Given the description of an element on the screen output the (x, y) to click on. 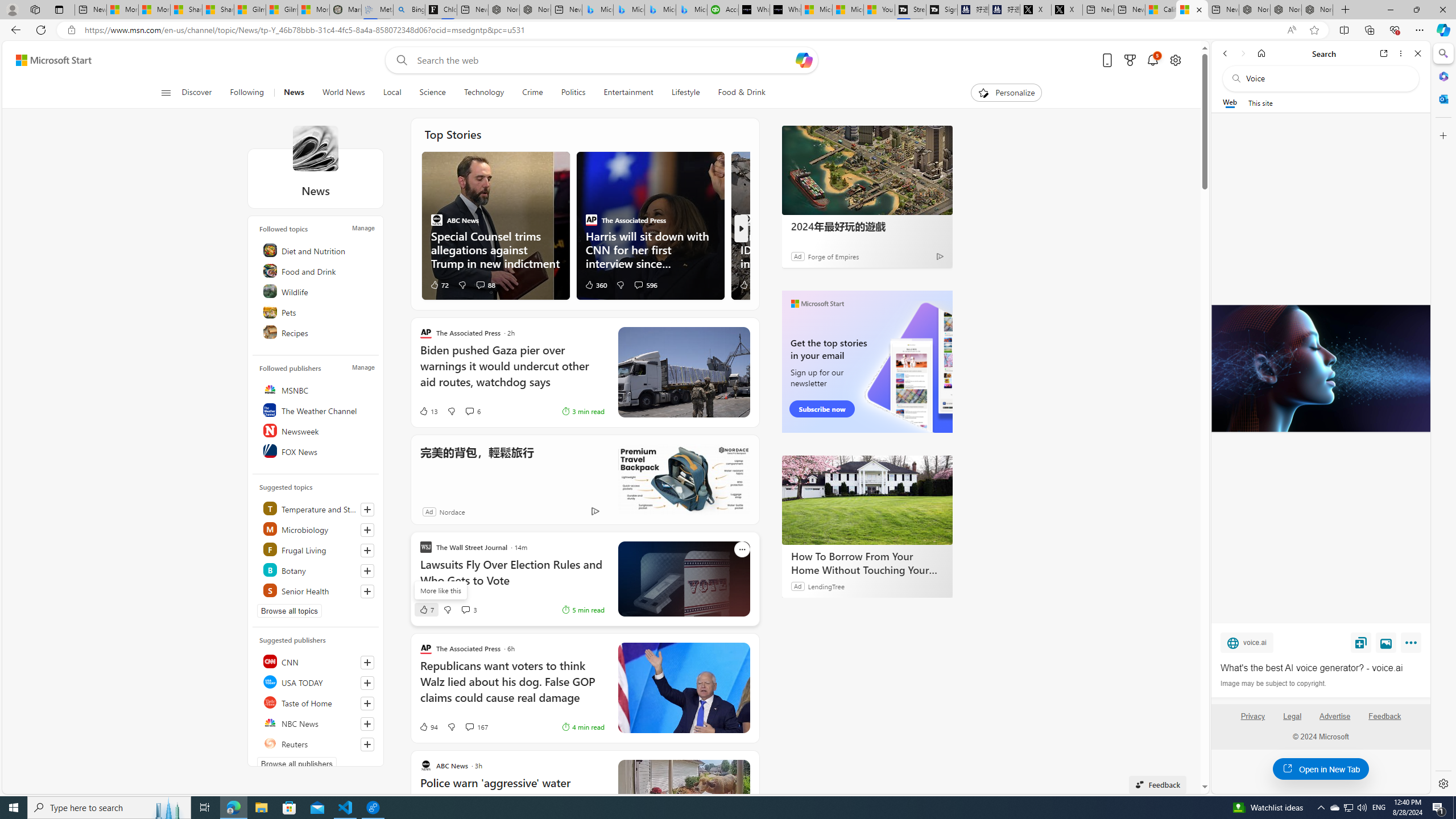
The Weather Channel (317, 410)
Chloe Sorvino (440, 9)
Lifestyle (685, 92)
72 Like (438, 284)
Home (1261, 53)
Food and Drink (317, 270)
News (293, 92)
Local (391, 92)
Privacy (1252, 720)
Skip to footer (46, 59)
News - MSN (1192, 9)
